Given the description of an element on the screen output the (x, y) to click on. 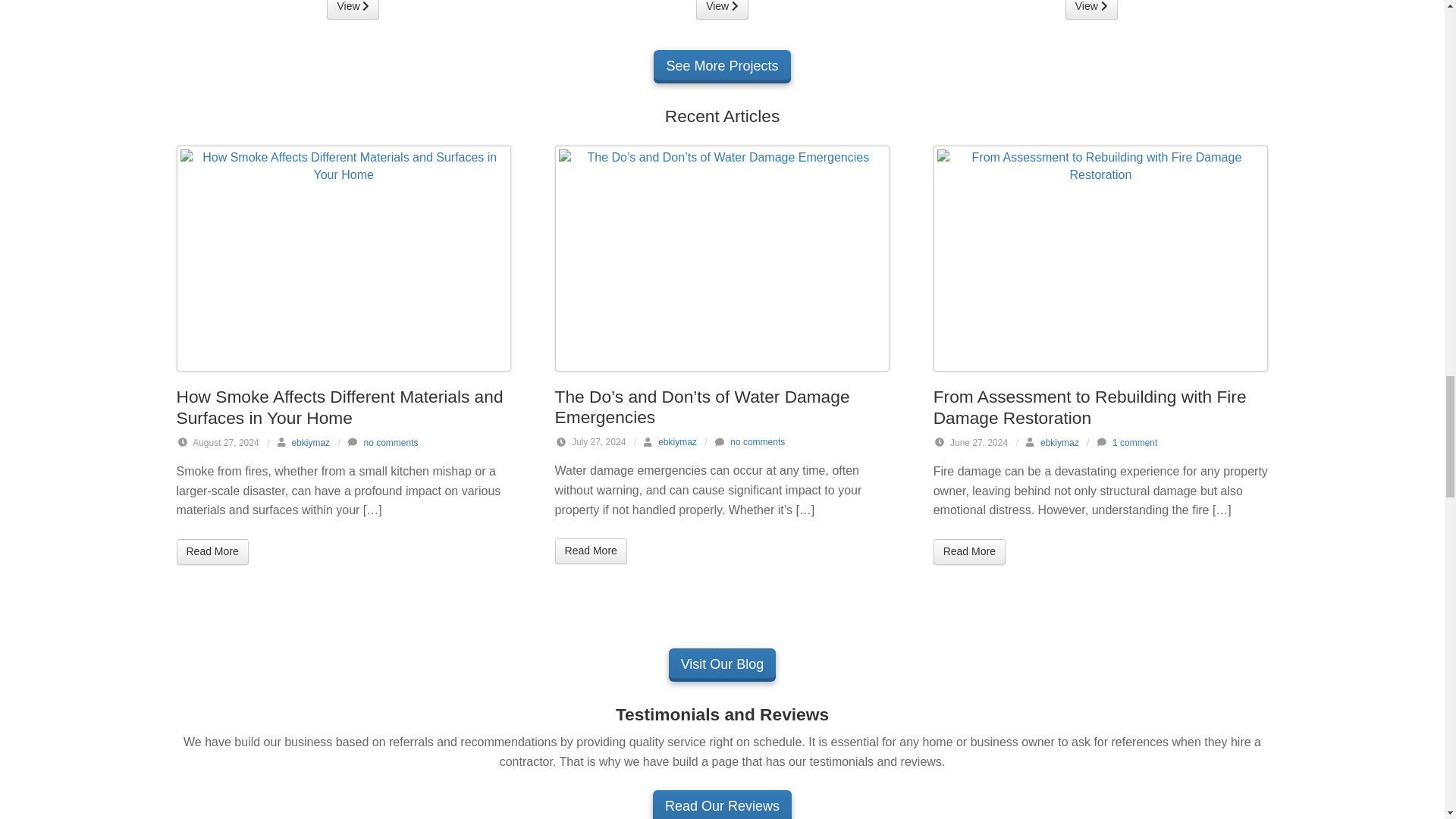
View (721, 9)
View (1091, 9)
View (352, 9)
no comments (389, 442)
See More Projects (721, 66)
Read More (211, 551)
ebkiymaz (310, 442)
Roof Leak Water Damage in La Quinta, CA (352, 9)
